Given the description of an element on the screen output the (x, y) to click on. 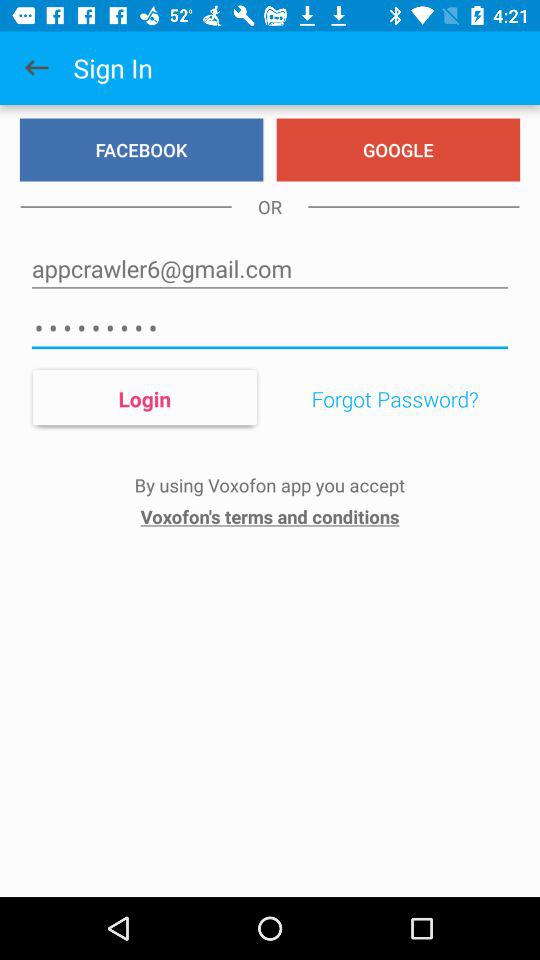
press login (144, 398)
